Given the description of an element on the screen output the (x, y) to click on. 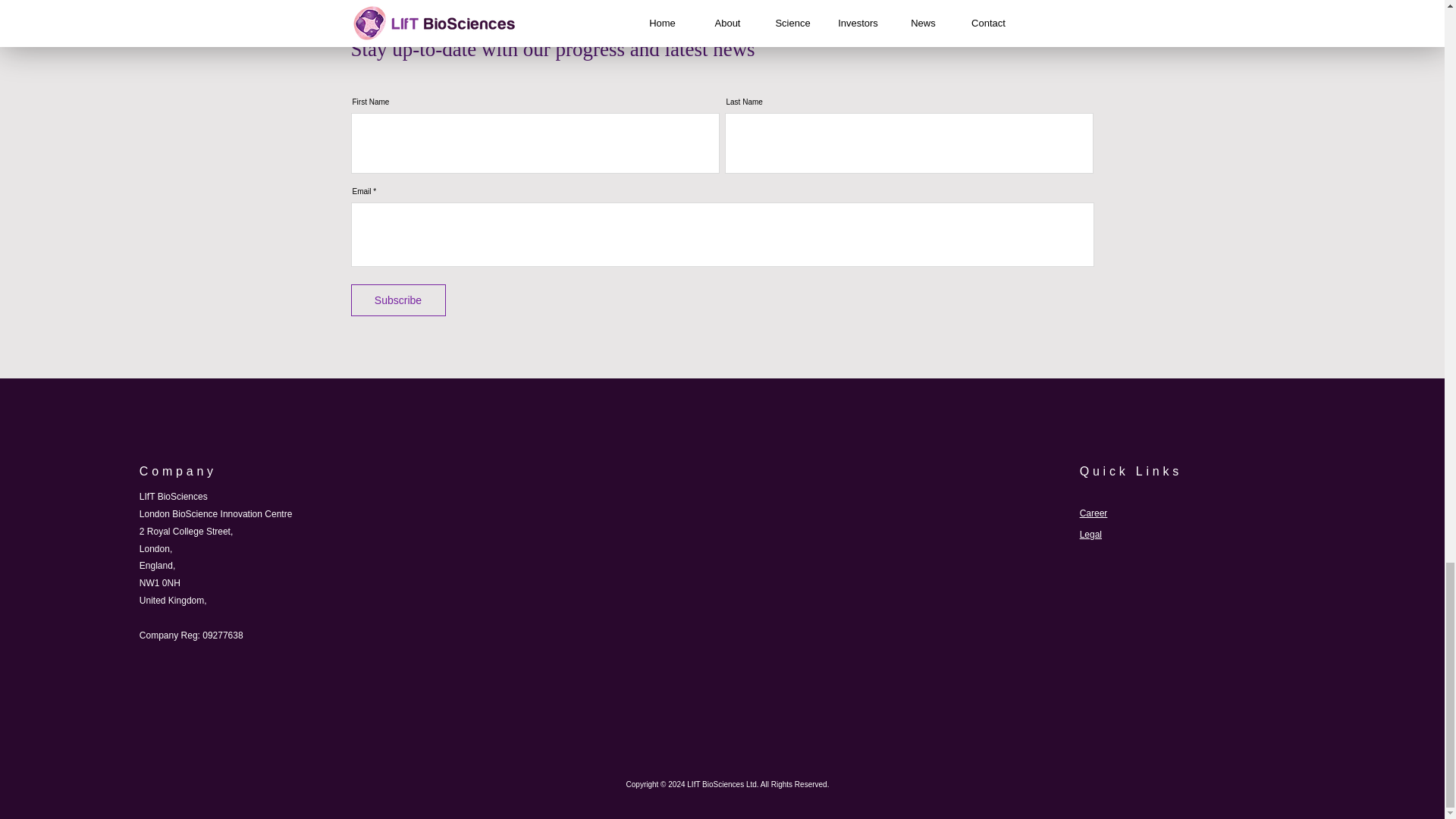
Subscribe (397, 300)
Career (1094, 512)
Legal (1091, 534)
